Given the description of an element on the screen output the (x, y) to click on. 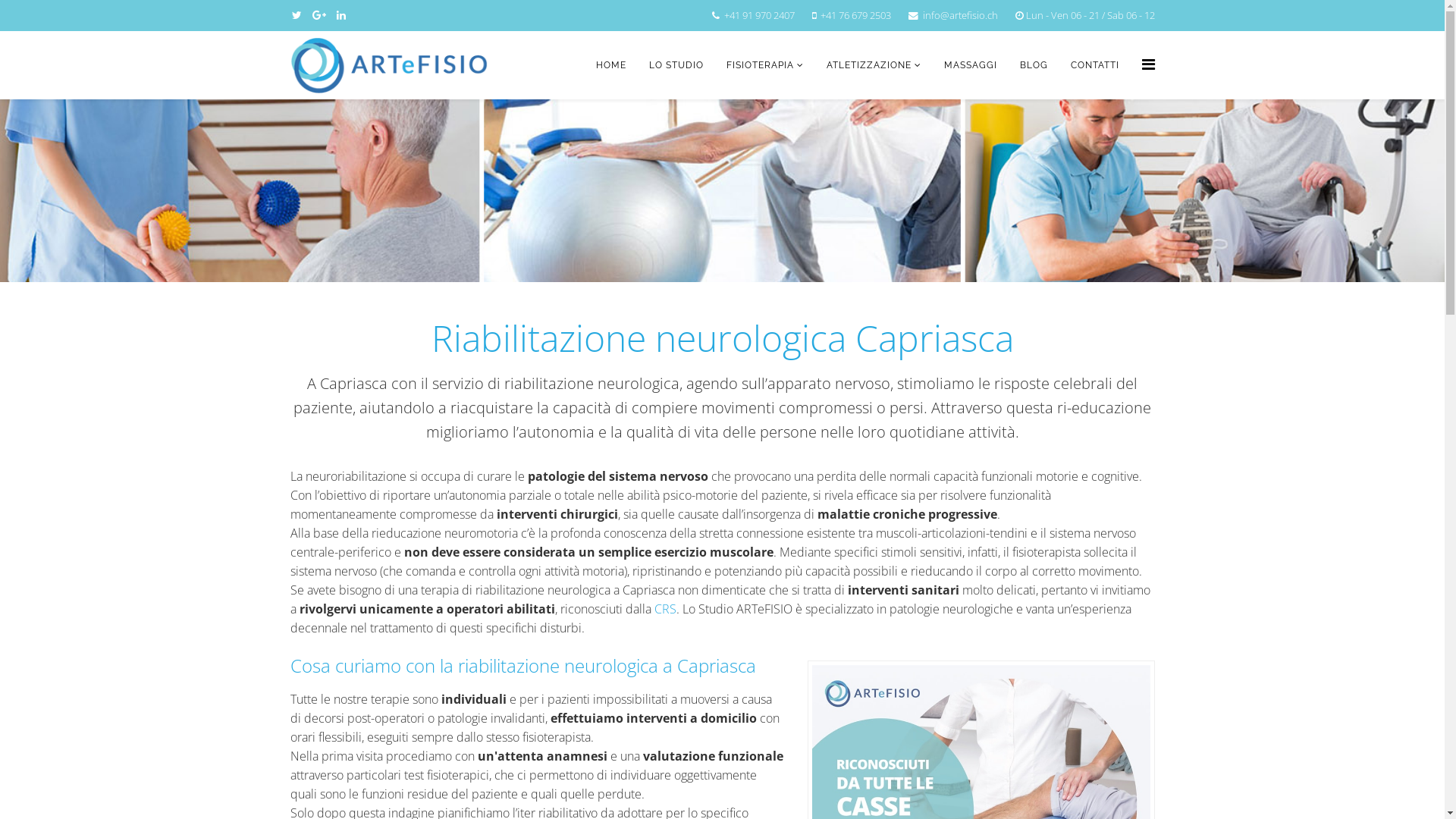
+41 91 970 2407 Element type: text (758, 15)
+41 76 679 2503 Element type: text (855, 15)
LO STUDIO Element type: text (675, 65)
CONTATTI Element type: text (1093, 65)
FISIOTERAPIA Element type: text (764, 65)
BLOG Element type: text (1033, 65)
ATLETIZZAZIONE Element type: text (872, 65)
info@artefisio.ch Element type: text (959, 15)
MASSAGGI Element type: text (970, 65)
CRS Element type: text (664, 608)
HOME Element type: text (610, 65)
